Given the description of an element on the screen output the (x, y) to click on. 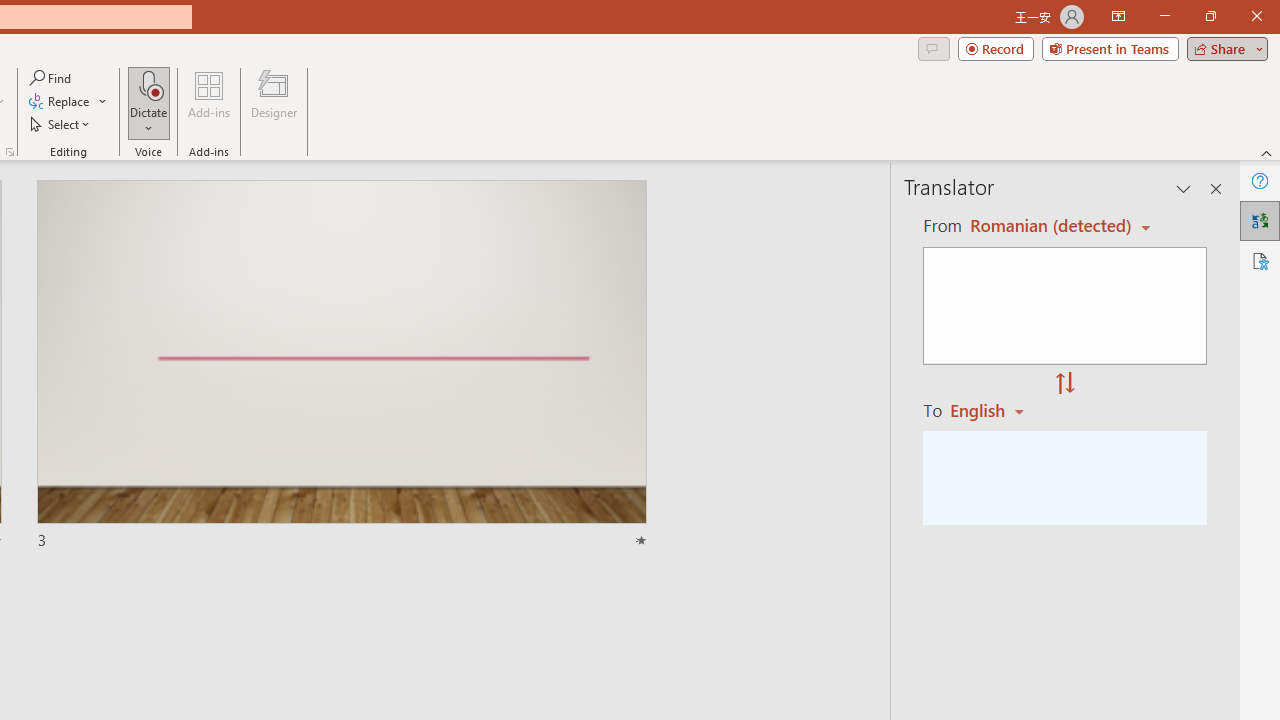
Format Object... (9, 151)
Select (61, 124)
Swap "from" and "to" languages. (1065, 383)
